Given the description of an element on the screen output the (x, y) to click on. 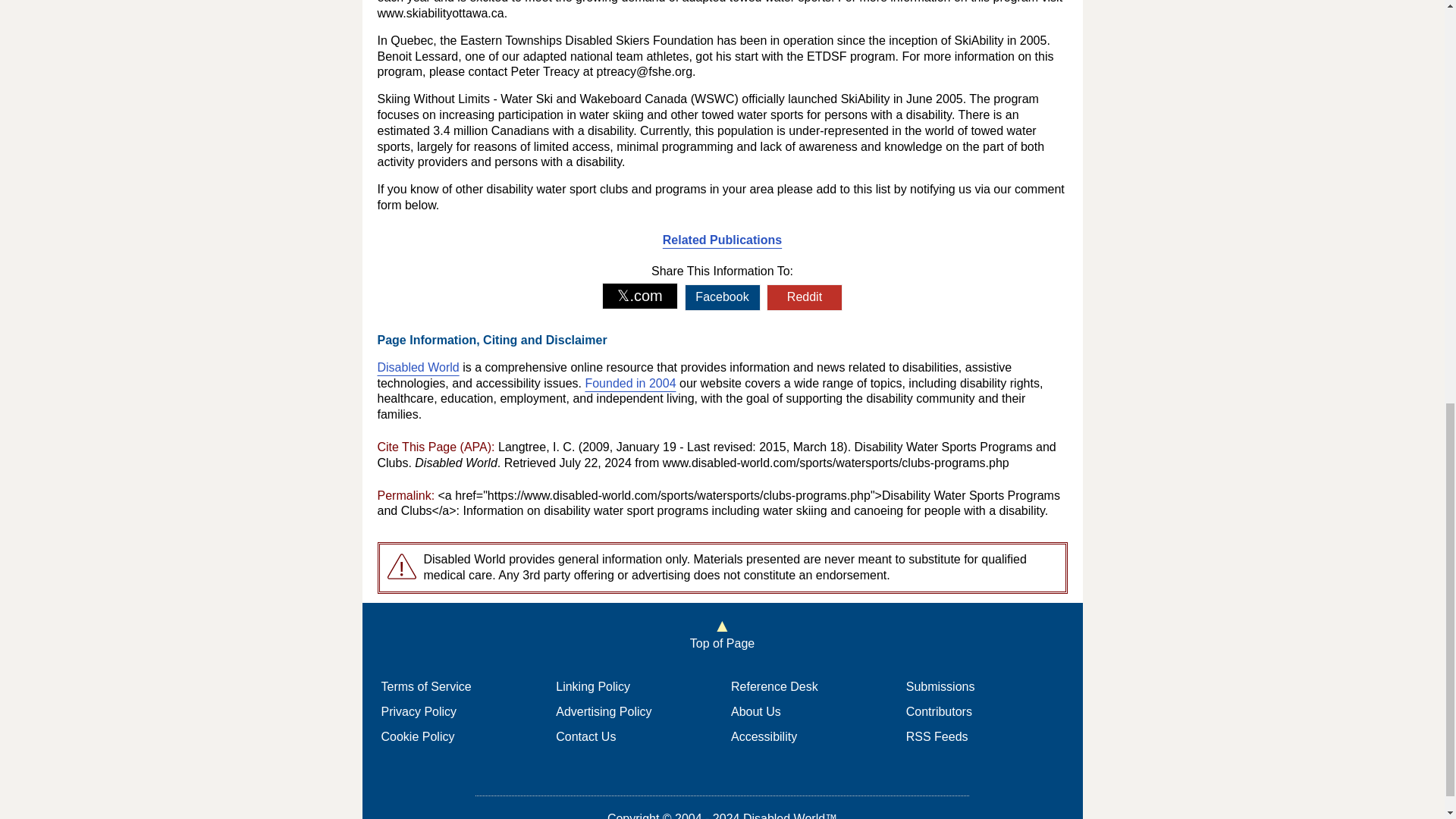
Share on X (640, 295)
Terms of Service (425, 686)
Founded in 2004 (630, 382)
Cookie Policy (417, 736)
Disabled World (418, 367)
Linking Policy (593, 686)
Advertising Policy (603, 711)
Privacy Policy (418, 711)
Contact Us (585, 736)
